Given the description of an element on the screen output the (x, y) to click on. 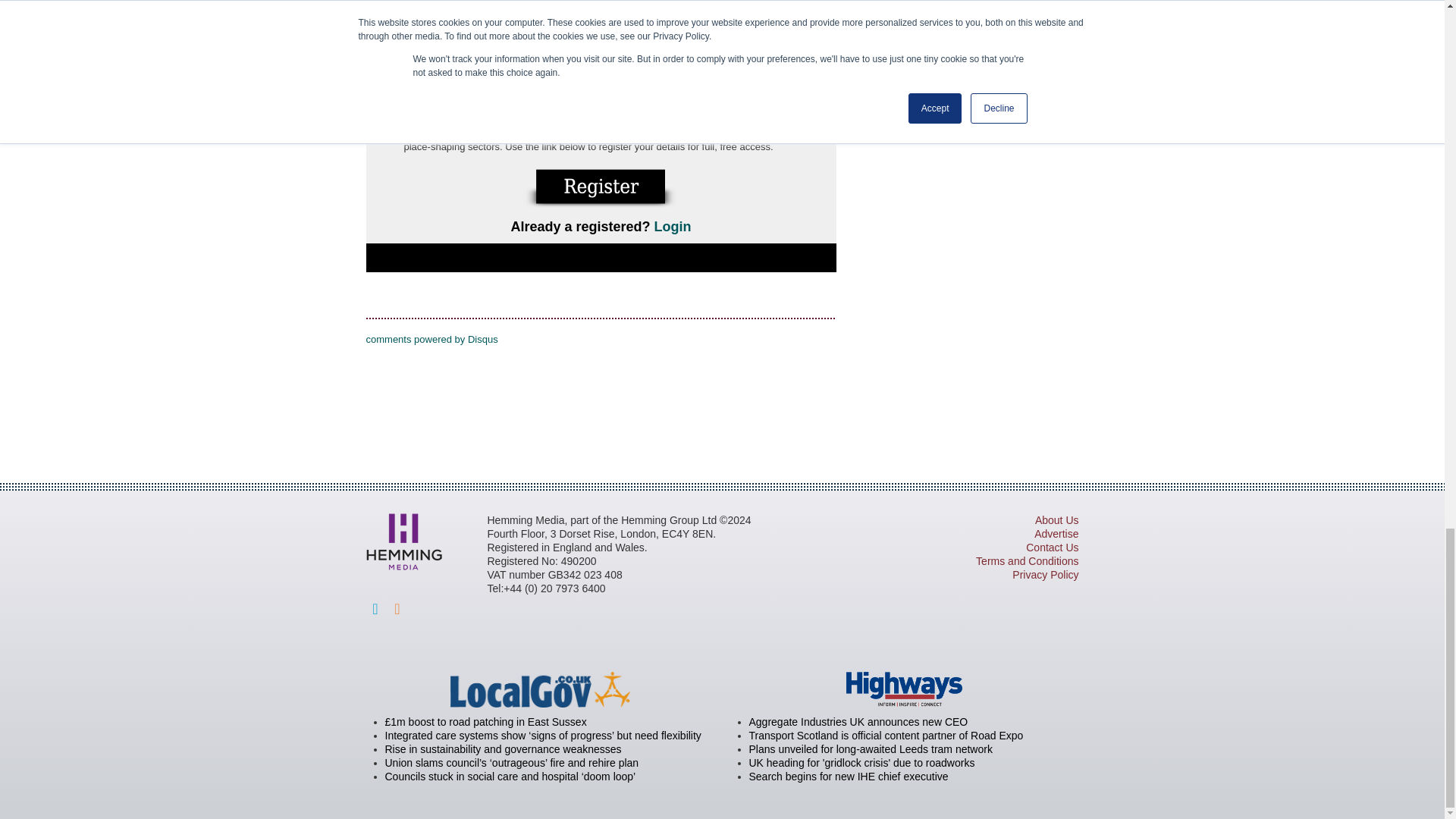
Login (672, 226)
3rd party ad content (721, 403)
3rd party ad content (907, 10)
comments powered by Disqus (431, 338)
